Given the description of an element on the screen output the (x, y) to click on. 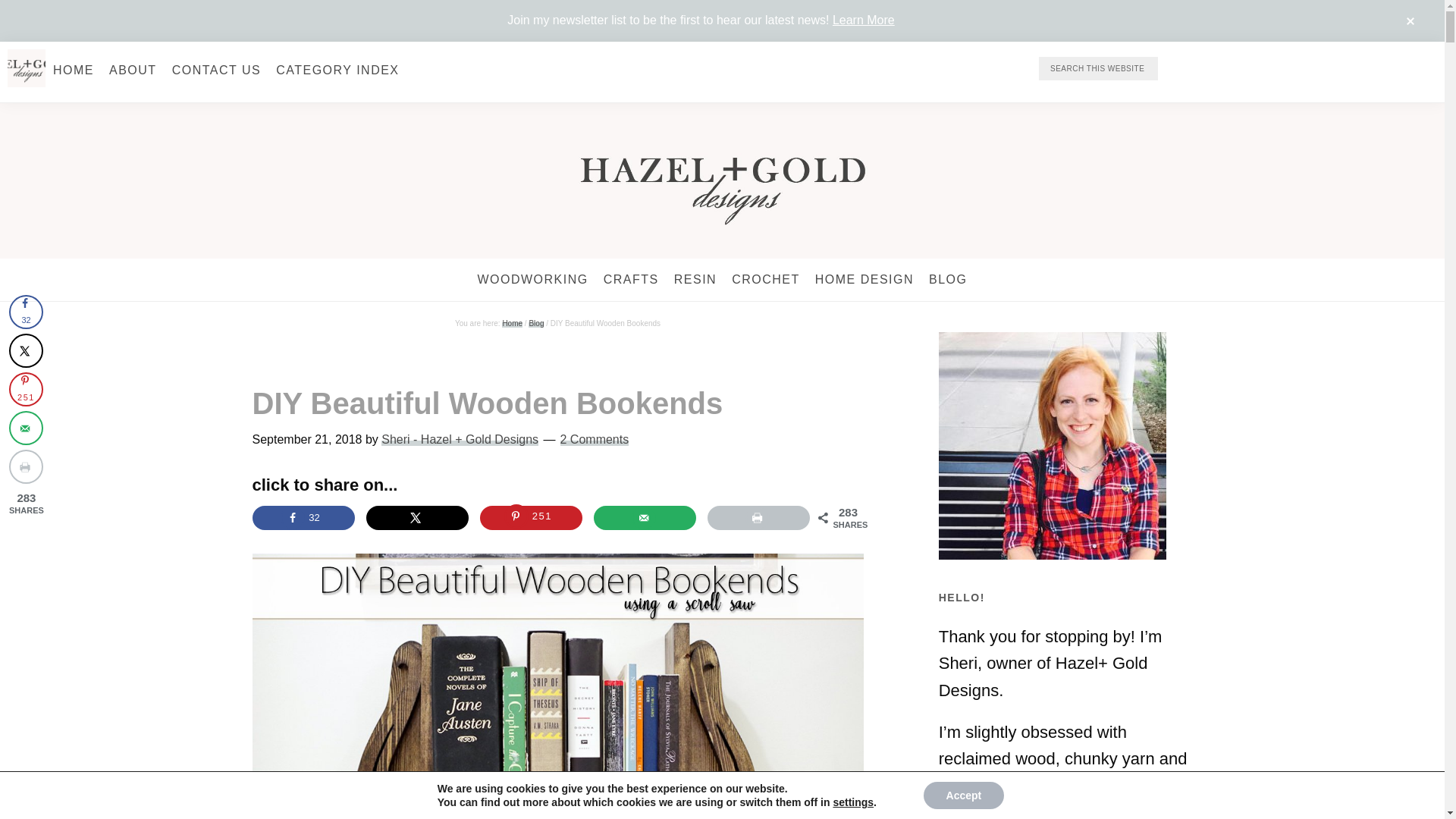
Send over email (644, 517)
CONTACT US (216, 70)
CATEGORY INDEX (336, 70)
ABOUT (132, 70)
WOODWORKING (531, 279)
Learn More (863, 19)
Share on Facebook (302, 517)
Print this webpage (758, 517)
HOME (73, 70)
Save to Pinterest (531, 517)
Share on X (417, 517)
